Given the description of an element on the screen output the (x, y) to click on. 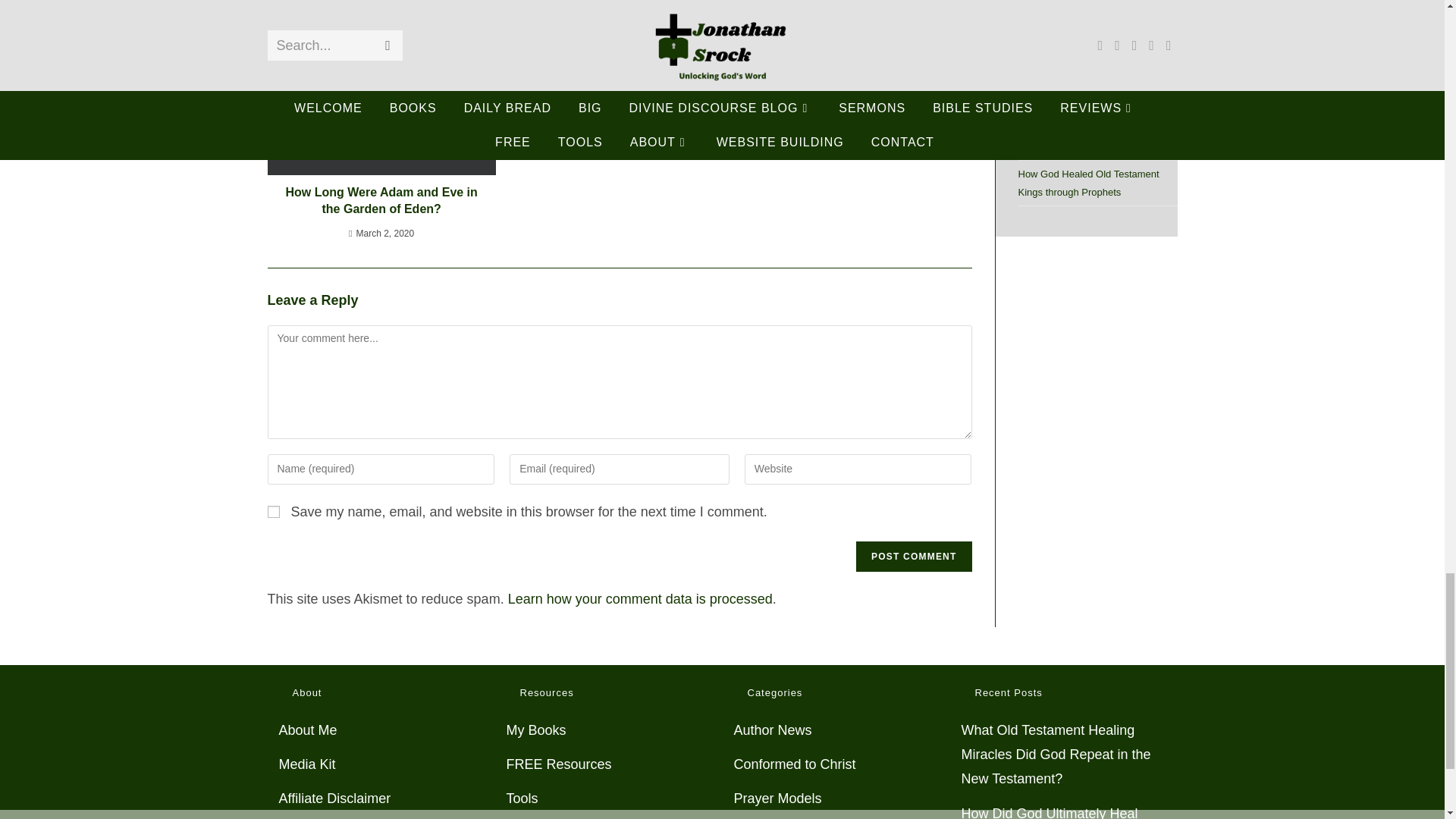
yes (272, 511)
Post Comment (913, 556)
